Given the description of an element on the screen output the (x, y) to click on. 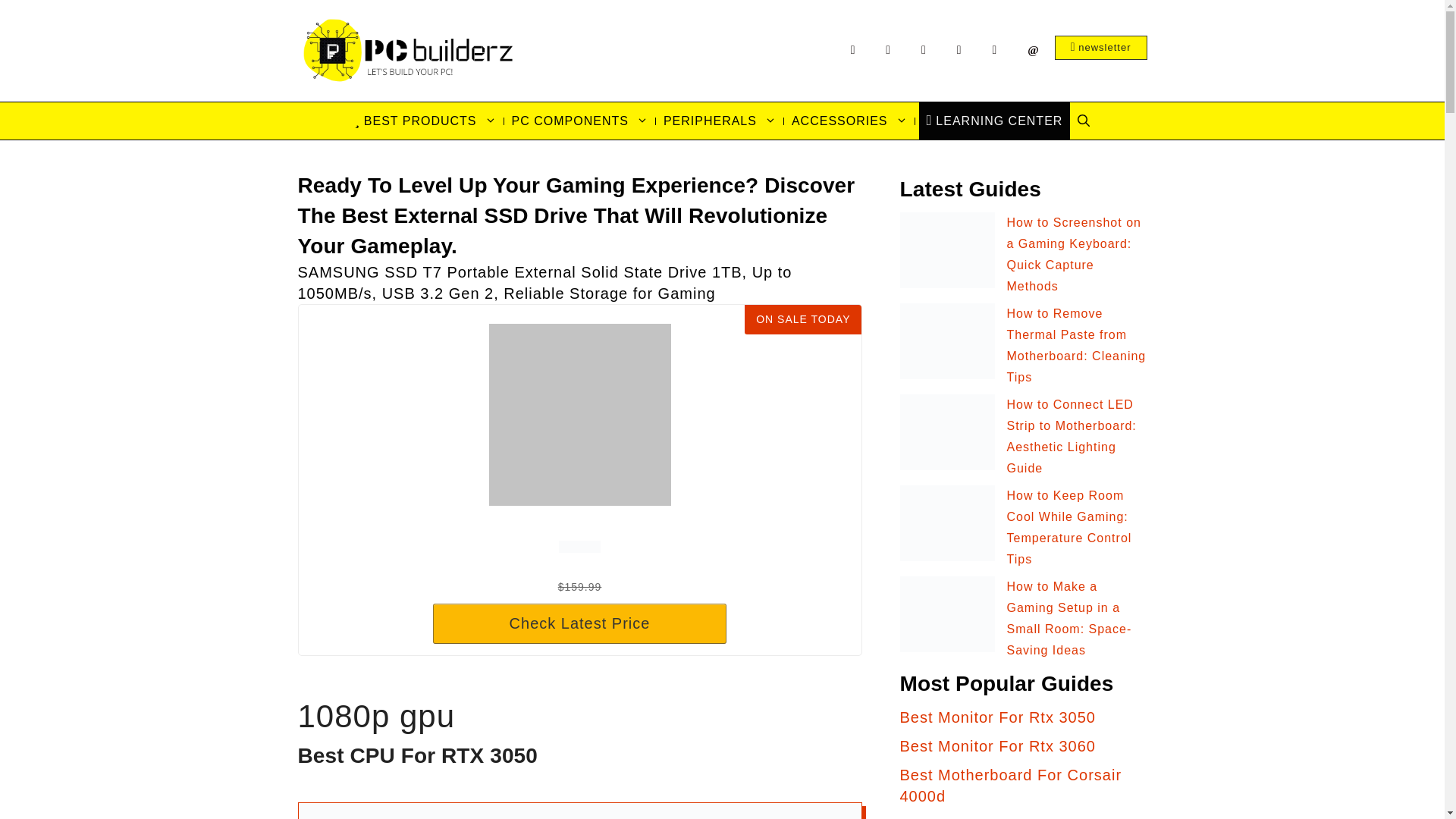
Best cpu for rtx 3050 option: 1 (579, 810)
About Us (993, 51)
BEST PRODUCTS (425, 120)
pinterest (923, 51)
Amazon Prime (579, 548)
facebook (852, 51)
instagram (959, 51)
contact (1032, 51)
twitter (887, 51)
newsletter (1100, 47)
PERIPHERALS (720, 120)
Check Latest Price (579, 623)
